Given the description of an element on the screen output the (x, y) to click on. 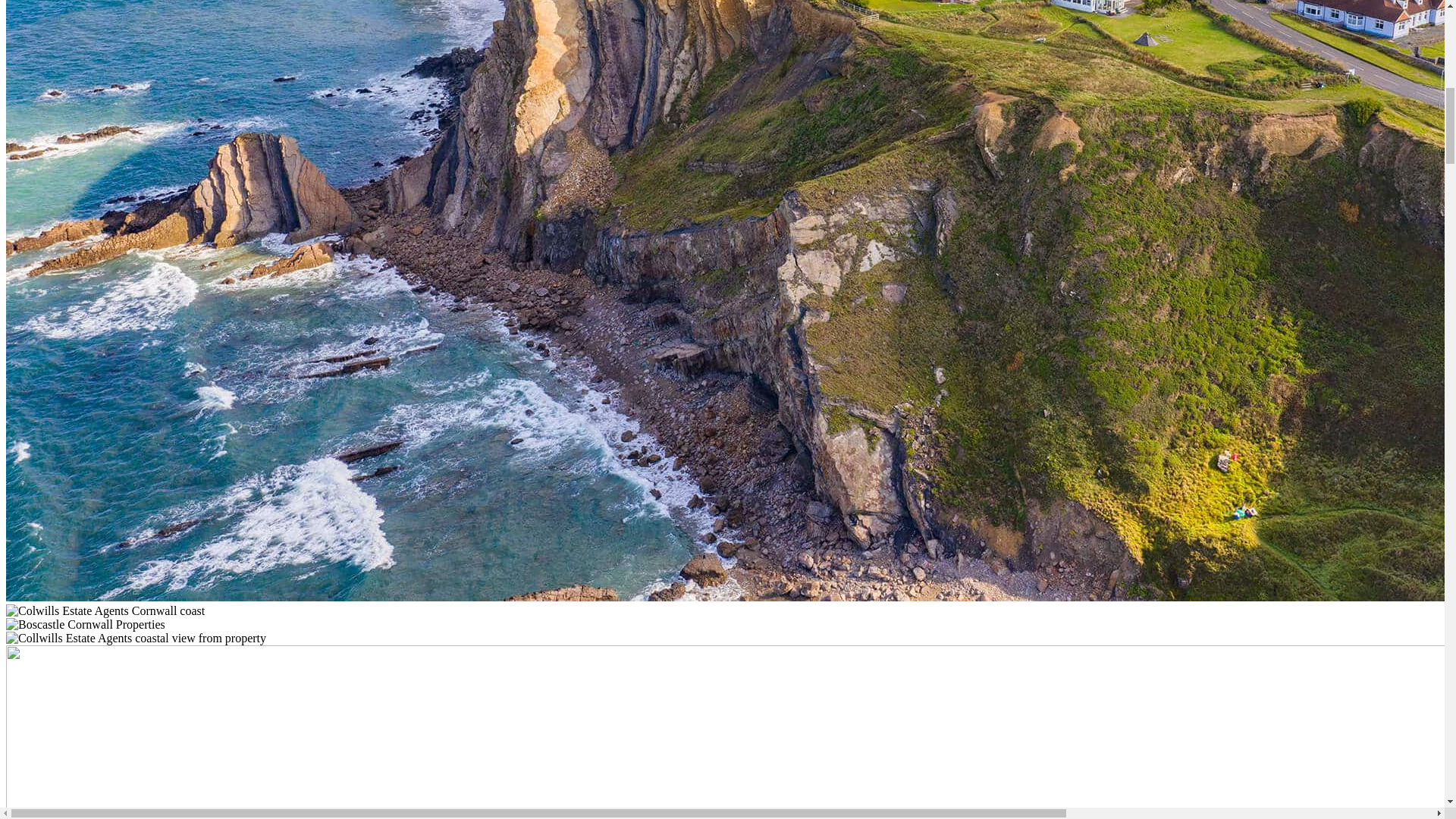
colwills-home-hero-2 (85, 624)
homepage-banner-img-3 (105, 611)
homepage-banner-img-2 (135, 638)
